Given the description of an element on the screen output the (x, y) to click on. 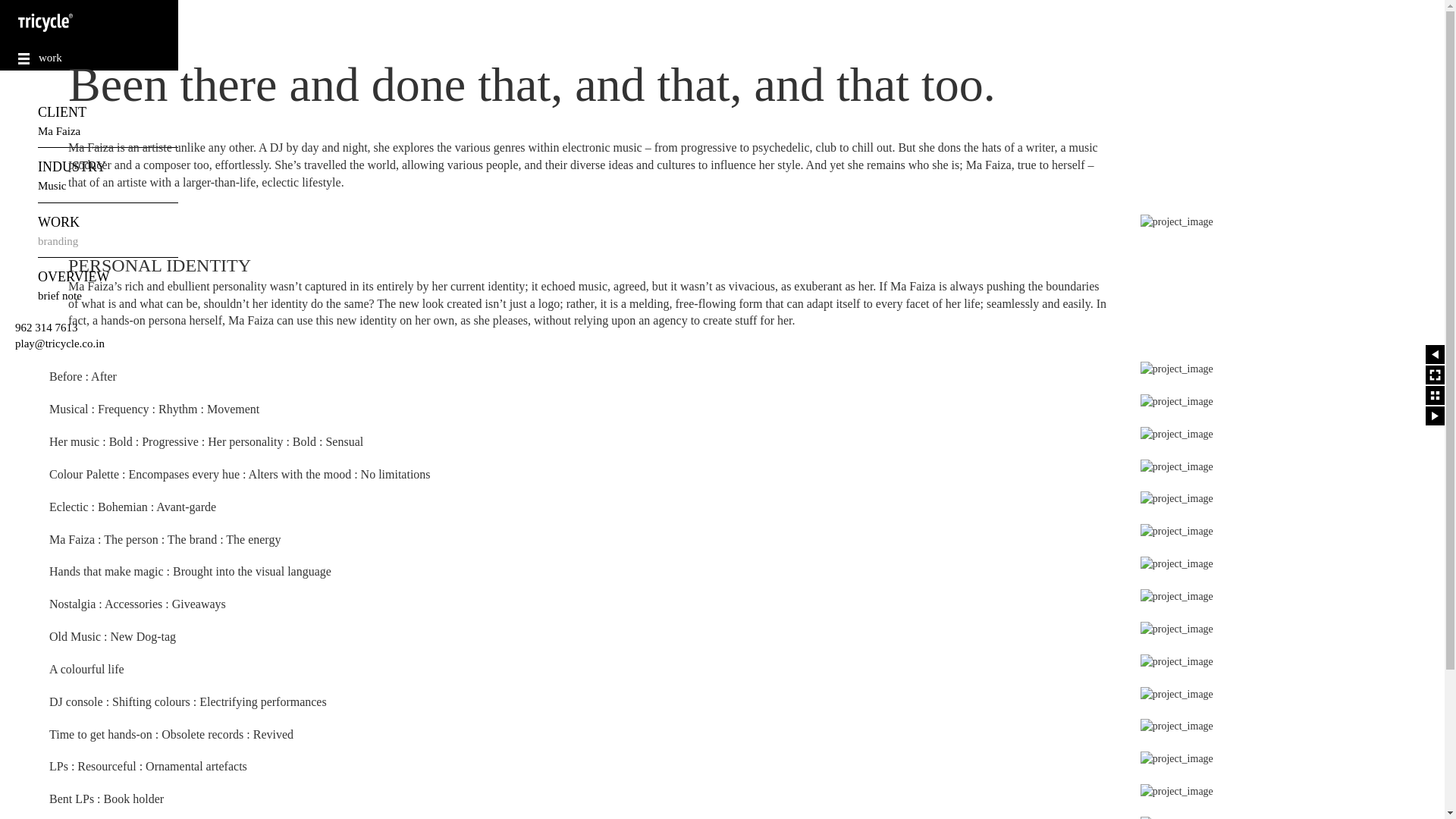
branding (57, 241)
962 314 7613 (46, 327)
